Given the description of an element on the screen output the (x, y) to click on. 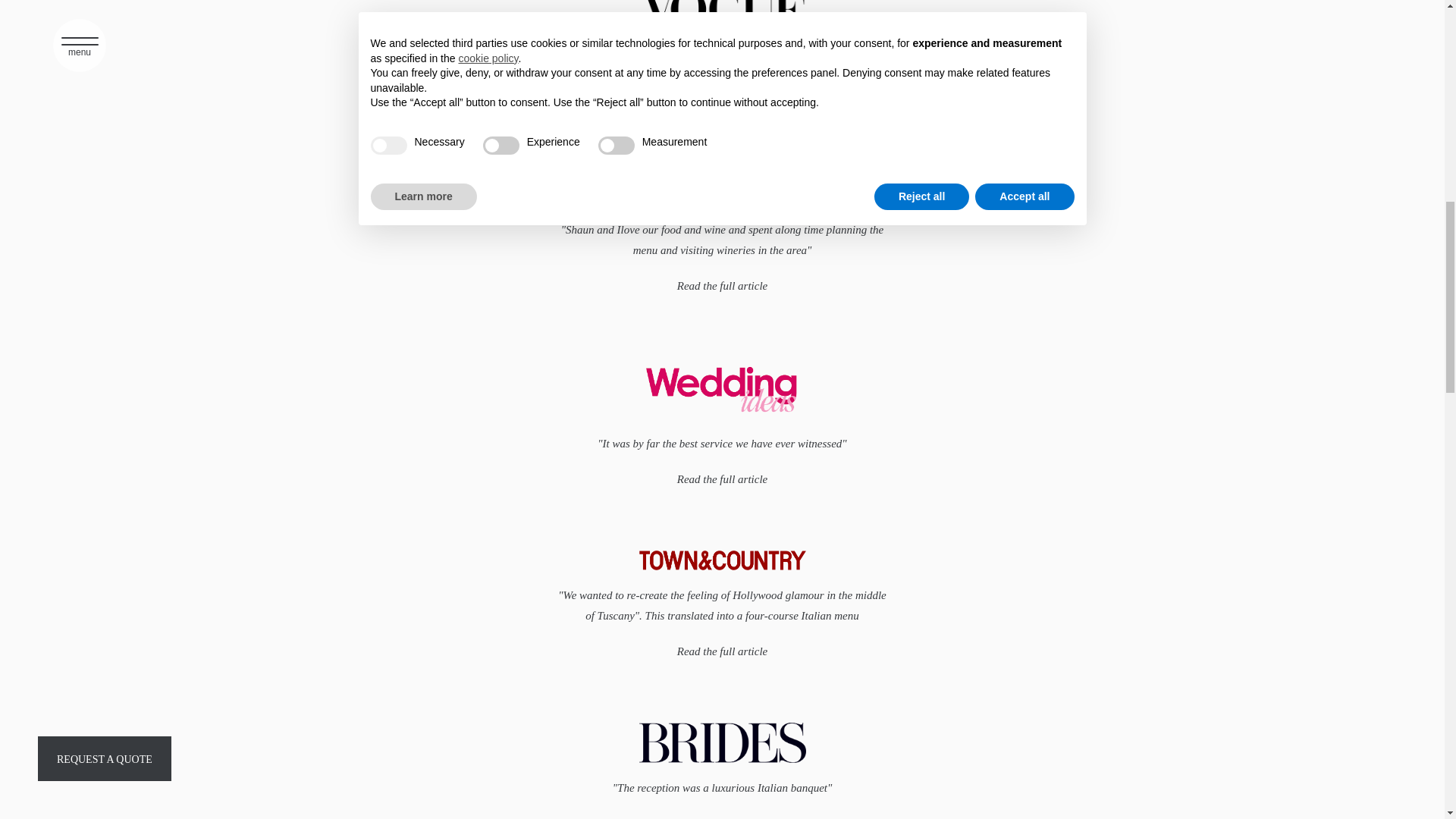
Read the full article (722, 92)
Read the full article (722, 285)
Read the full article (722, 479)
Read the full article (722, 651)
